Given the description of an element on the screen output the (x, y) to click on. 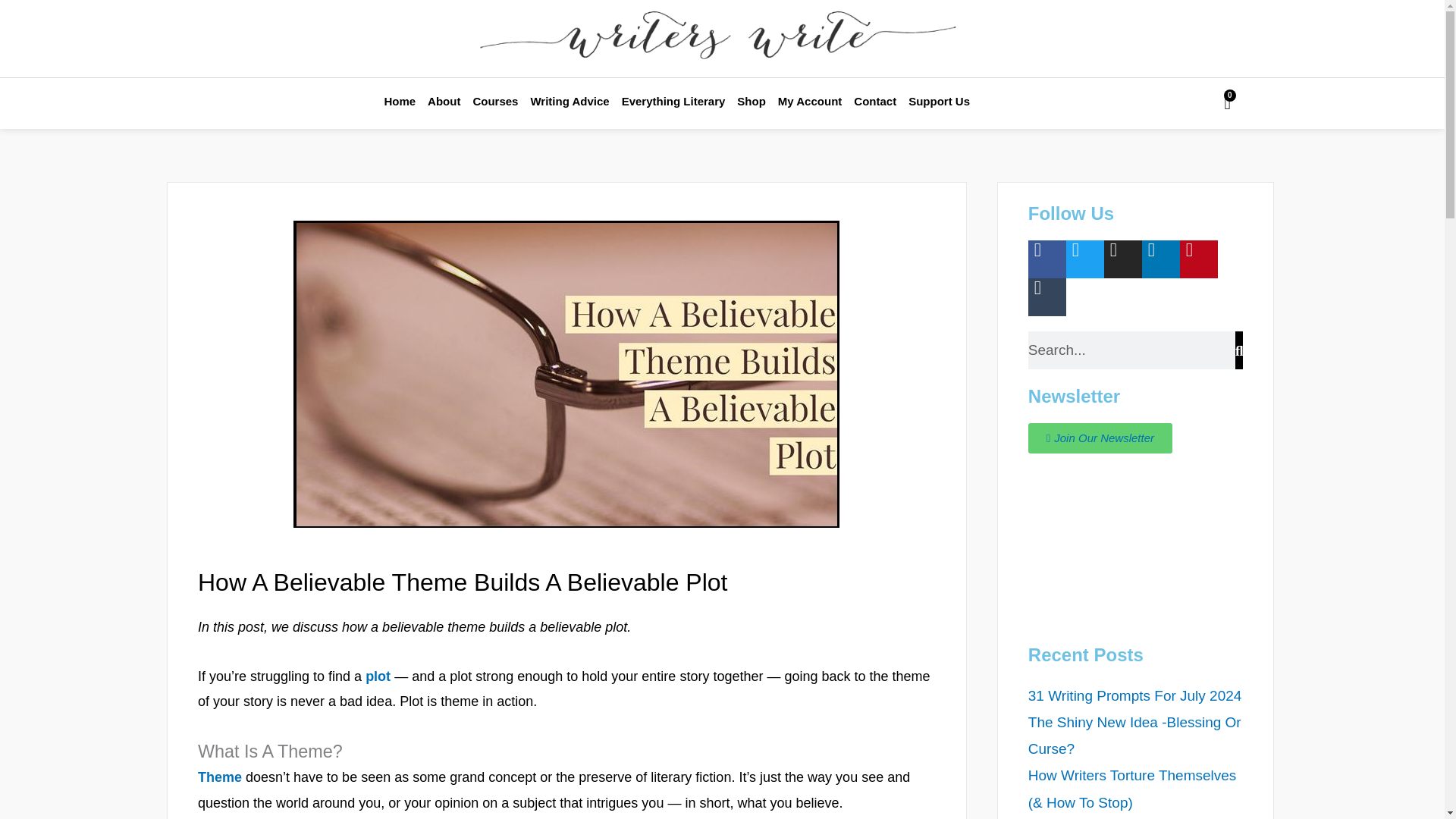
Home (399, 101)
Shop (750, 101)
Everything Literary (673, 101)
Writing Advice (569, 101)
Courses (494, 101)
Contact (874, 101)
My Account (809, 101)
Support Us (938, 101)
About (443, 101)
